Given the description of an element on the screen output the (x, y) to click on. 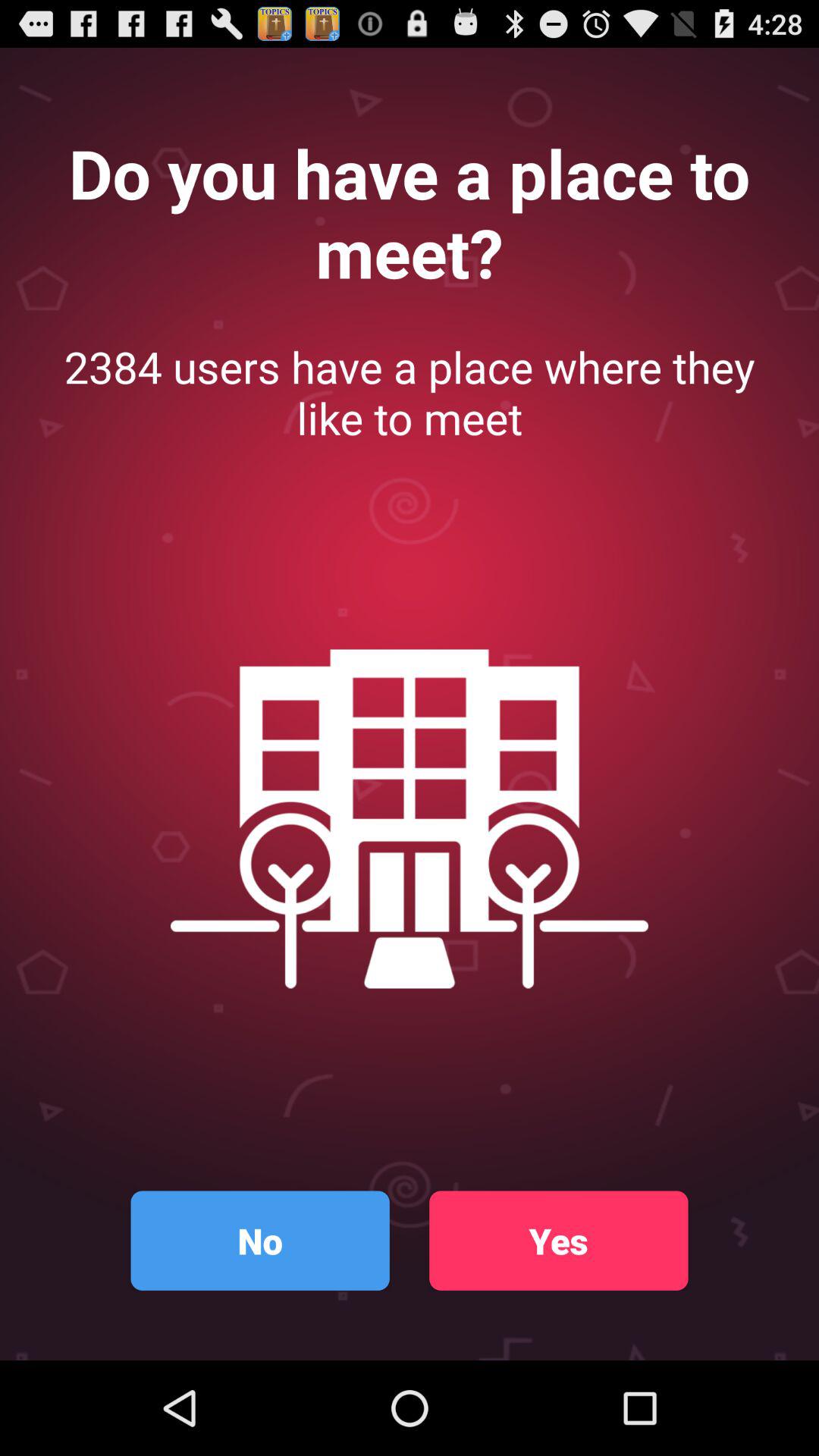
open the button to the left of the yes button (259, 1240)
